Given the description of an element on the screen output the (x, y) to click on. 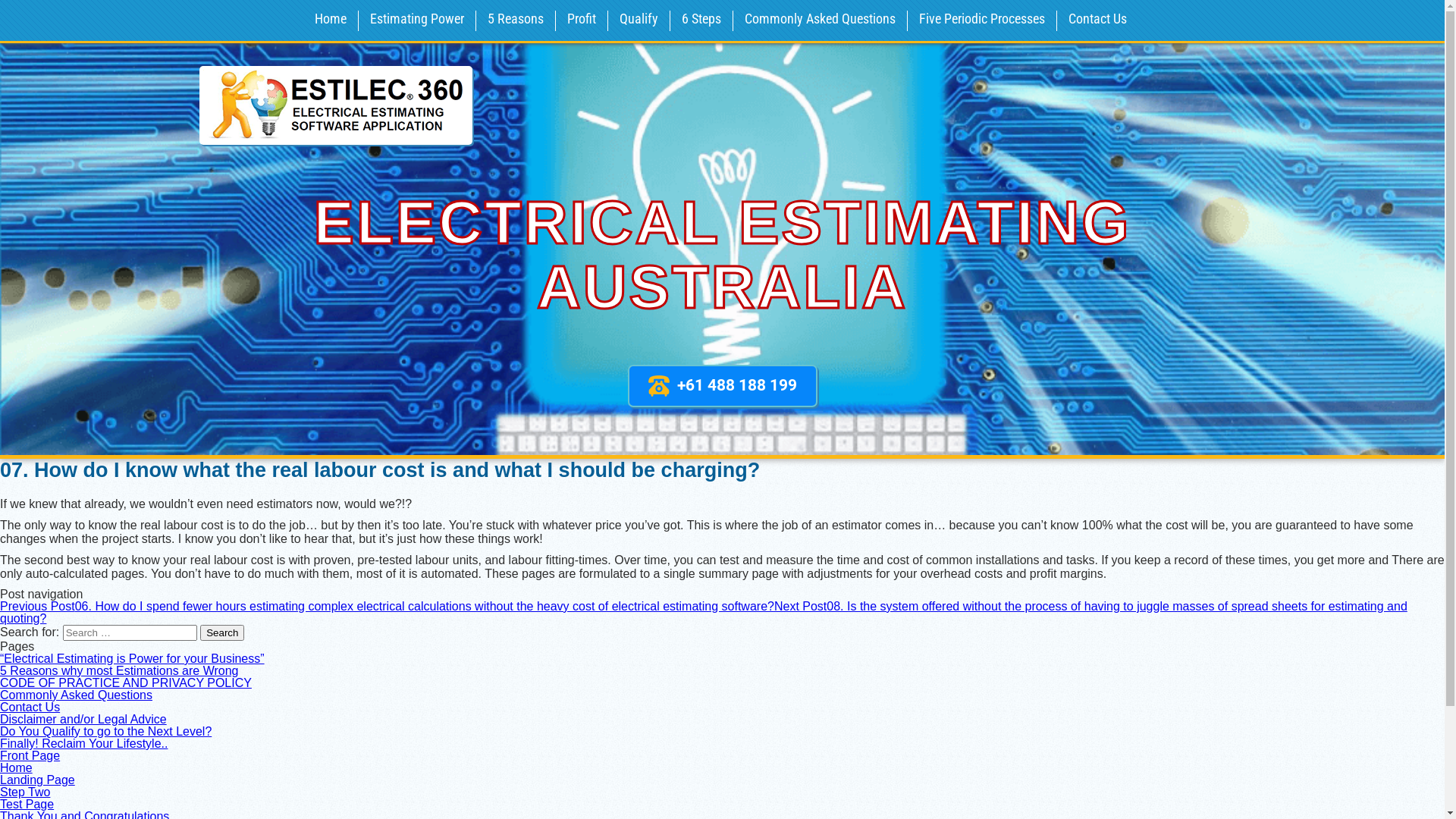
Commonly Asked Questions Element type: text (819, 20)
Profit Element type: text (580, 20)
Home Element type: text (16, 767)
Front Page Element type: text (29, 755)
Five Periodic Processes Element type: text (981, 20)
Test Page Element type: text (26, 803)
Do You Qualify to go to the Next Level? Element type: text (105, 730)
Contact Us Element type: text (29, 706)
Finally! Reclaim Your Lifestyle.. Element type: text (83, 743)
Search Element type: text (222, 632)
Landing Page Element type: text (37, 779)
5 Reasons Element type: text (515, 20)
5 Reasons why most Estimations are Wrong Element type: text (119, 670)
Home Element type: text (330, 20)
Estimating Power Element type: text (415, 20)
6 Steps Element type: text (701, 20)
Step Two Element type: text (25, 791)
Contact Us Element type: text (1097, 20)
Disclaimer and/or Legal Advice Element type: text (83, 718)
Qualify Element type: text (638, 20)
CODE OF PRACTICE AND PRIVACY POLICY Element type: text (125, 682)
Commonly Asked Questions Element type: text (76, 694)
